Given the description of an element on the screen output the (x, y) to click on. 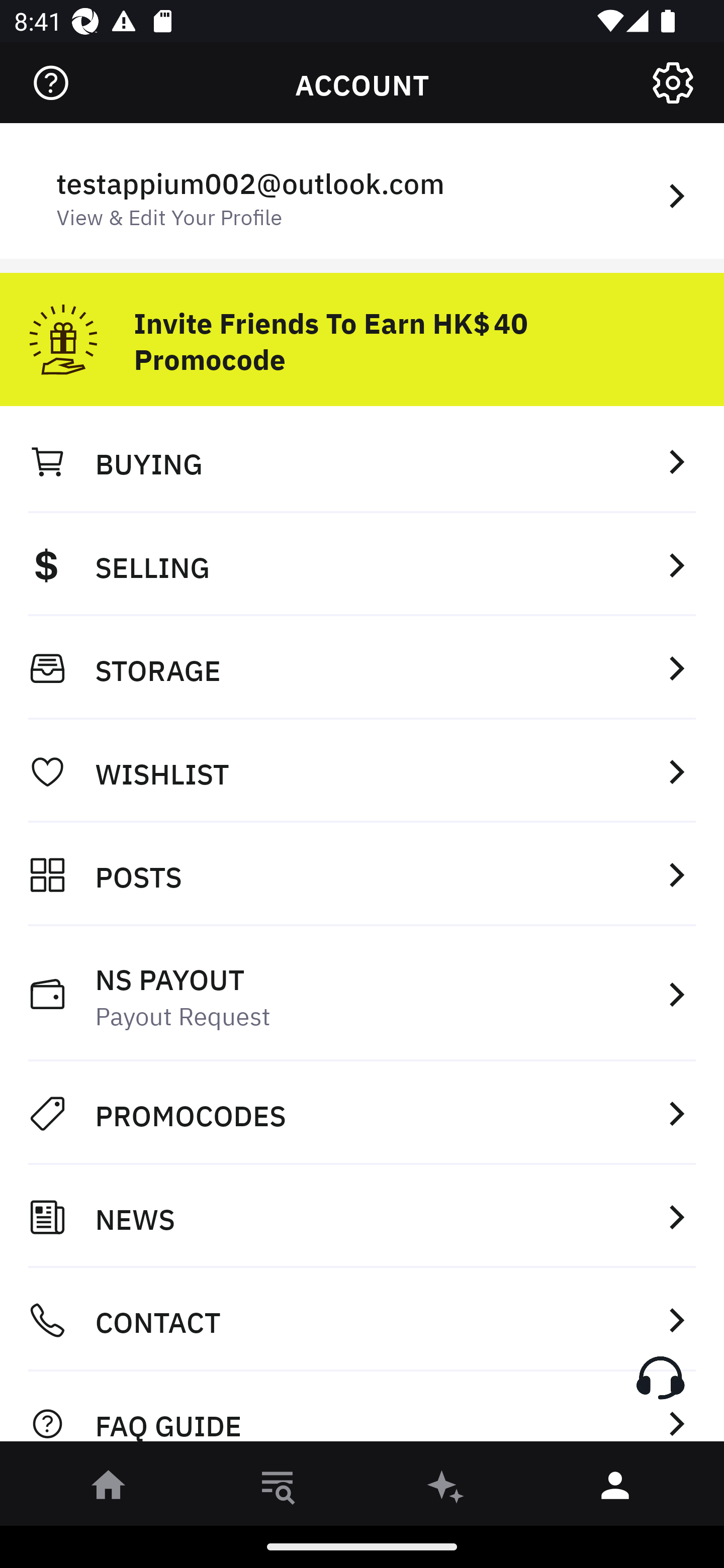
 (50, 83)
 (672, 83)
Invite Friends To Earn HK$ 40 Promocode (362, 332)
 BUYING  (361, 460)
 SELLING  (361, 564)
 STORAGE  (361, 667)
 WISHLIST  (361, 771)
 POSTS  (361, 874)
 0 NS PAYOUT Payout Request  (361, 993)
 PROMOCODES  (361, 1113)
 NEWS  (361, 1216)
 CONTACT  (361, 1320)
 FAQ GUIDE  (361, 1411)
󰋜 (108, 1488)
󱎸 (277, 1488)
󰫢 (446, 1488)
󰀄 (615, 1488)
